Given the description of an element on the screen output the (x, y) to click on. 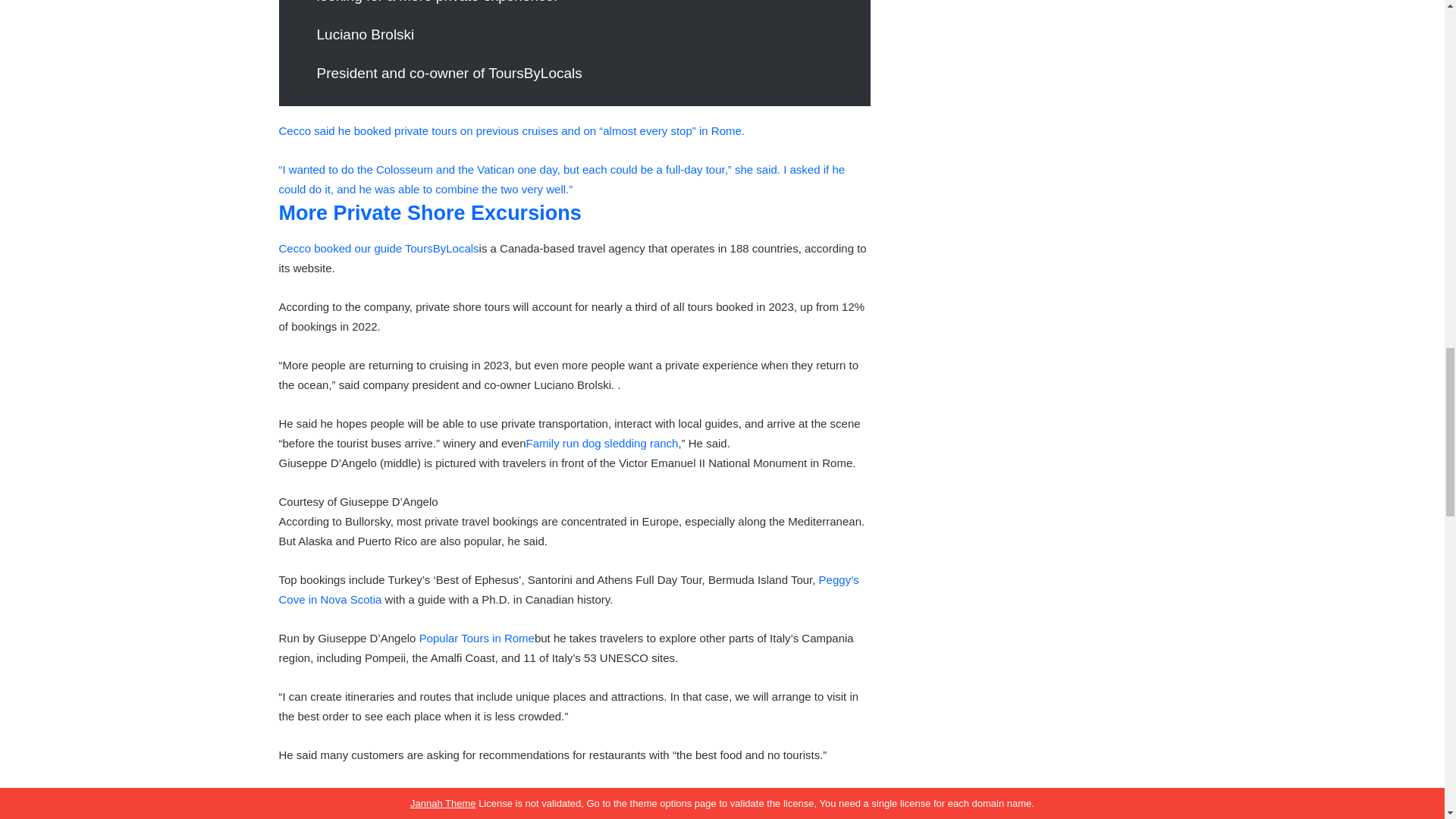
Popular Tours in Rome (476, 637)
More Private Shore Excursions (429, 212)
Family run dog sledding ranch (601, 442)
Cecco booked our guide (342, 247)
ToursByLocals (441, 247)
